Given the description of an element on the screen output the (x, y) to click on. 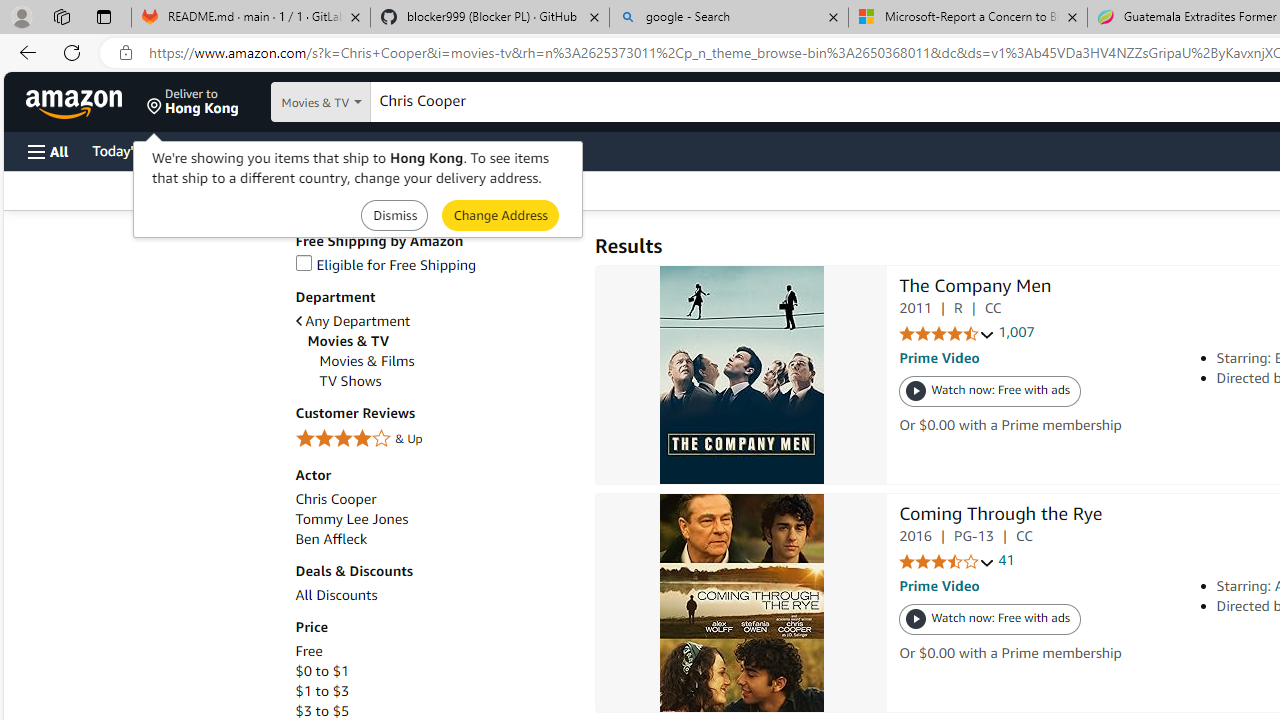
Submit (499, 214)
Coming Through the Rye (741, 602)
Today's Deals (134, 150)
Ben Affleck (331, 538)
$1 to $3 (321, 691)
Tommy Lee Jones (434, 519)
Chris Cooper (335, 499)
Tommy Lee Jones (351, 519)
Deliver to Hong Kong (193, 101)
Any Department (352, 321)
Movies & Films (366, 361)
